Given the description of an element on the screen output the (x, y) to click on. 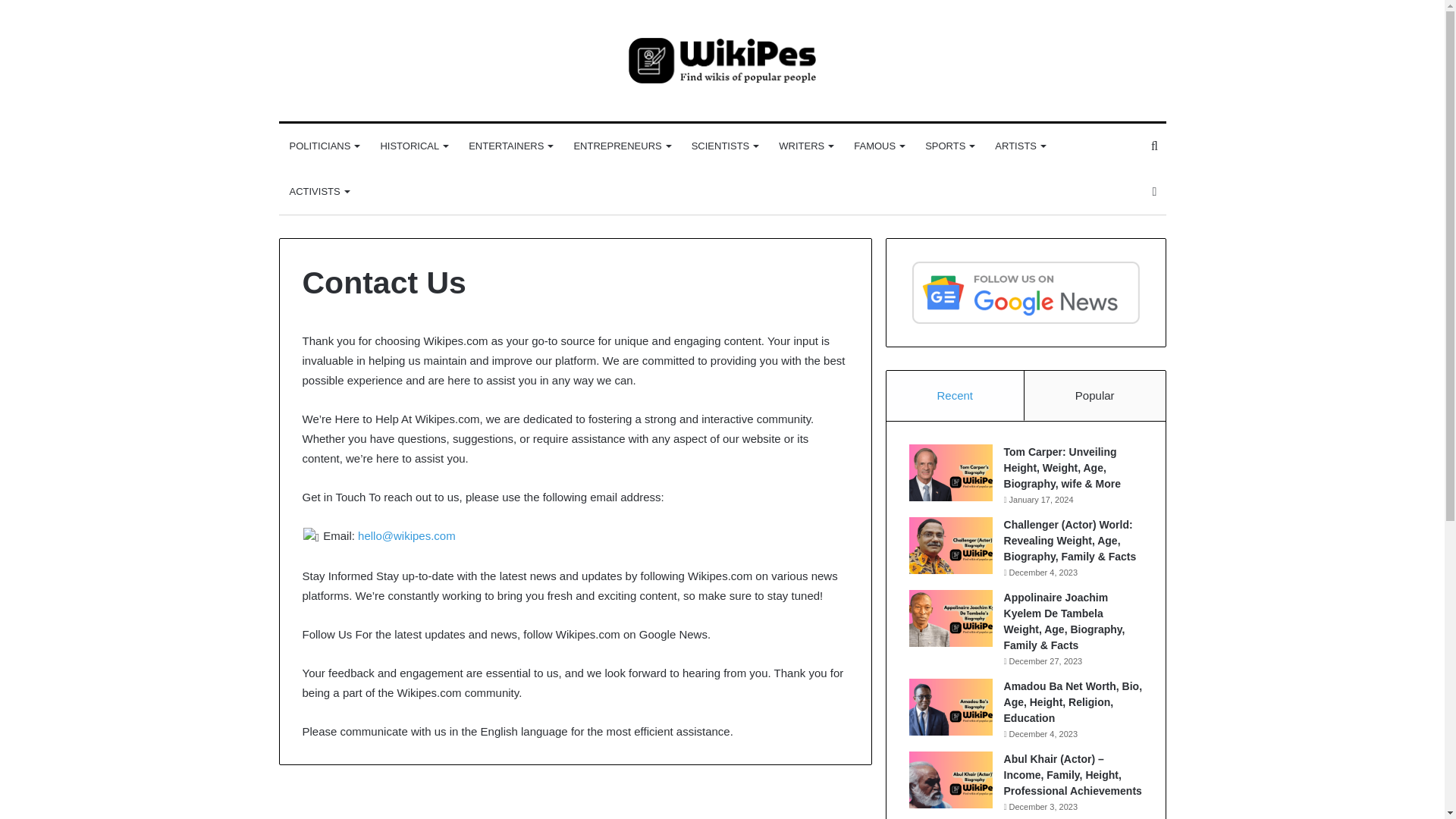
ENTREPRENEURS (620, 145)
SPORTS (949, 145)
WRITERS (805, 145)
ENTERTAINERS (510, 145)
ARTISTS (1019, 145)
WikiPes (722, 60)
FAMOUS (878, 145)
HISTORICAL (413, 145)
POLITICIANS (324, 145)
SCIENTISTS (724, 145)
